Given the description of an element on the screen output the (x, y) to click on. 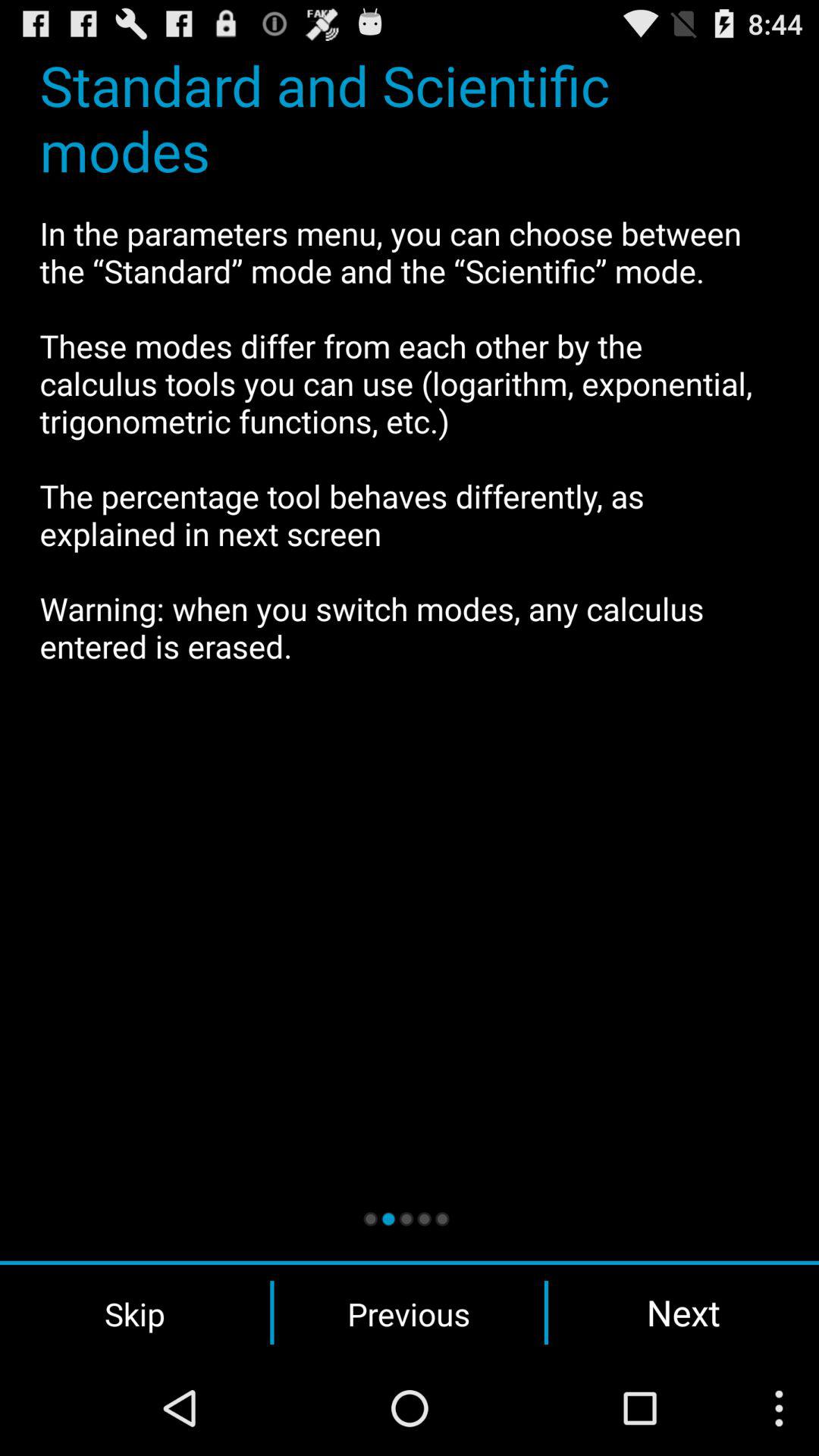
open the previous (409, 1313)
